Given the description of an element on the screen output the (x, y) to click on. 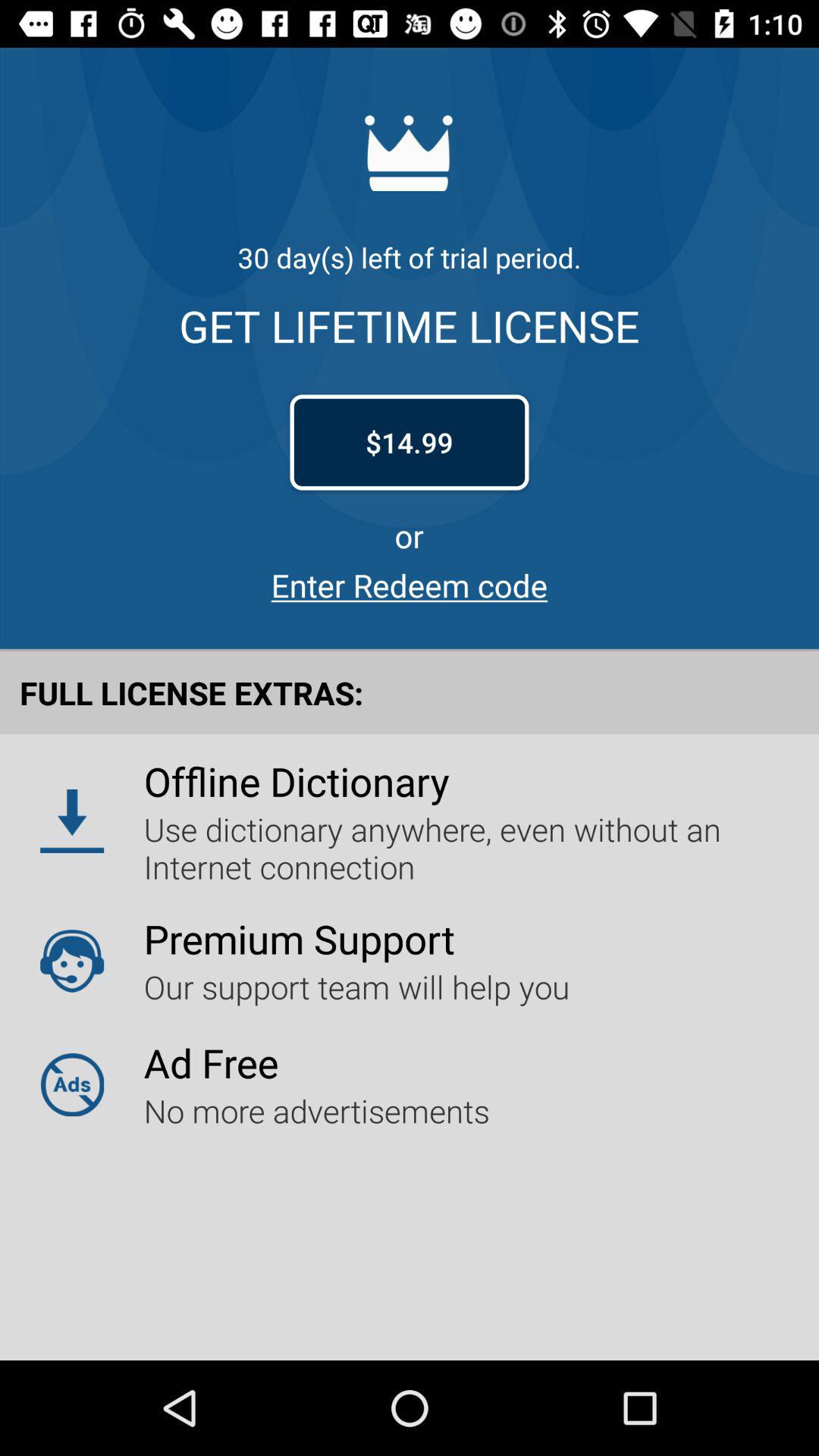
jump to $14.99 (409, 442)
